Given the description of an element on the screen output the (x, y) to click on. 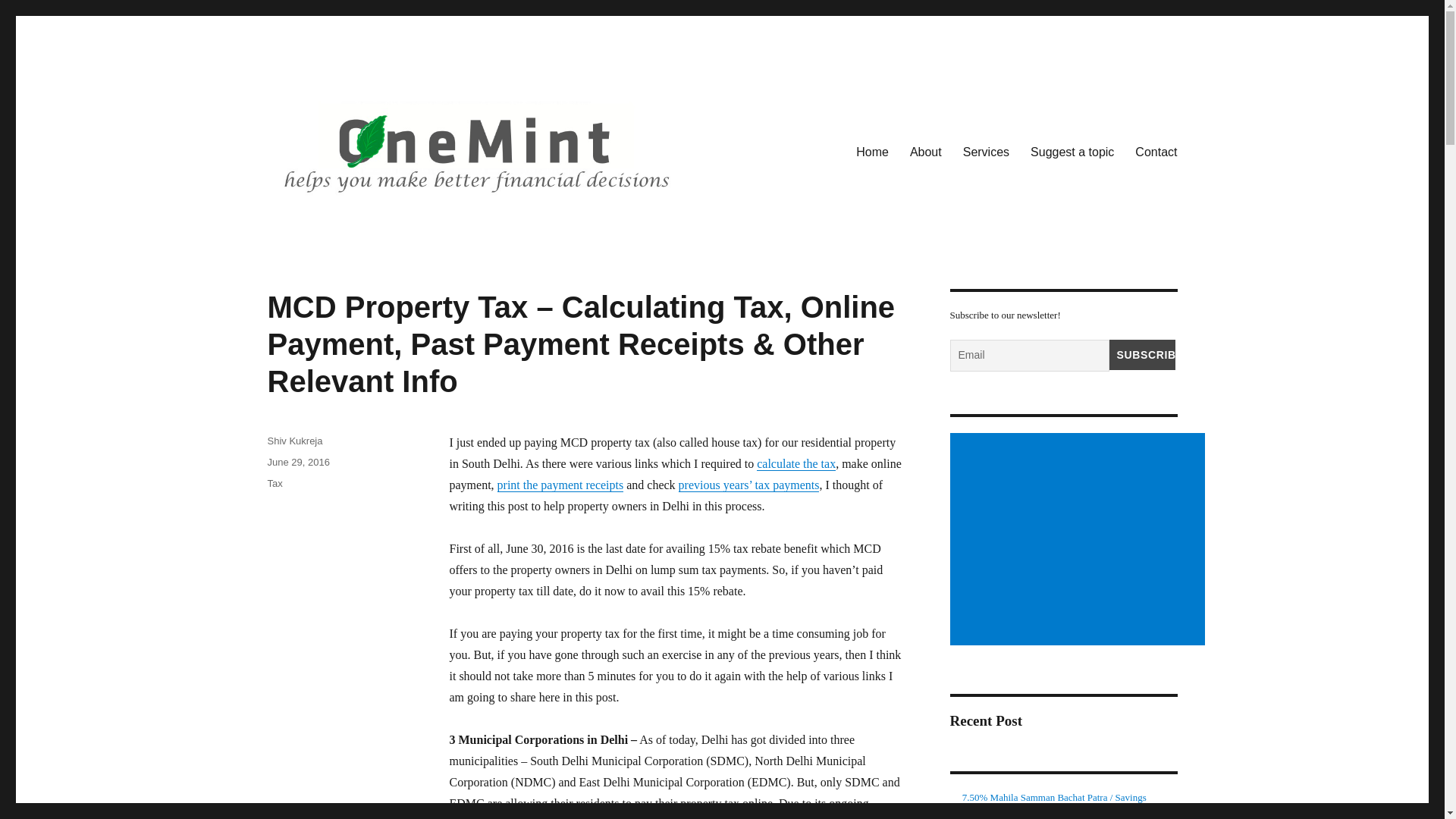
Subscribe (1141, 354)
OneMint (309, 227)
June 29, 2016 (297, 461)
print the payment receipts (560, 484)
About (925, 152)
Home (872, 152)
Suggest a topic (1072, 152)
Contact (1156, 152)
Services (986, 152)
Tax (274, 482)
